Given the description of an element on the screen output the (x, y) to click on. 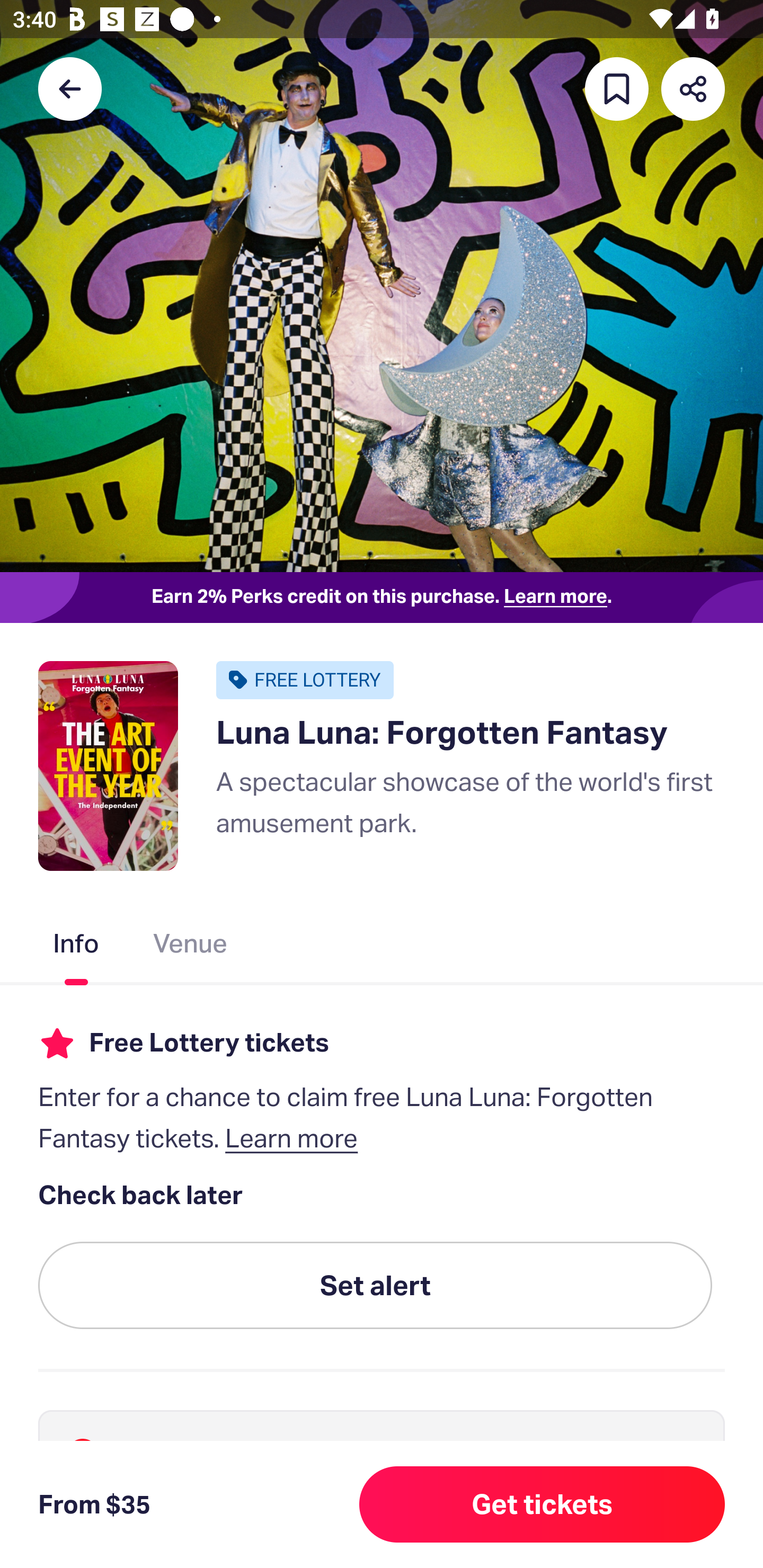
Earn 2% Perks credit on this purchase. Learn more. (381, 597)
Venue (190, 946)
Set alert (374, 1286)
Get tickets (541, 1504)
